Given the description of an element on the screen output the (x, y) to click on. 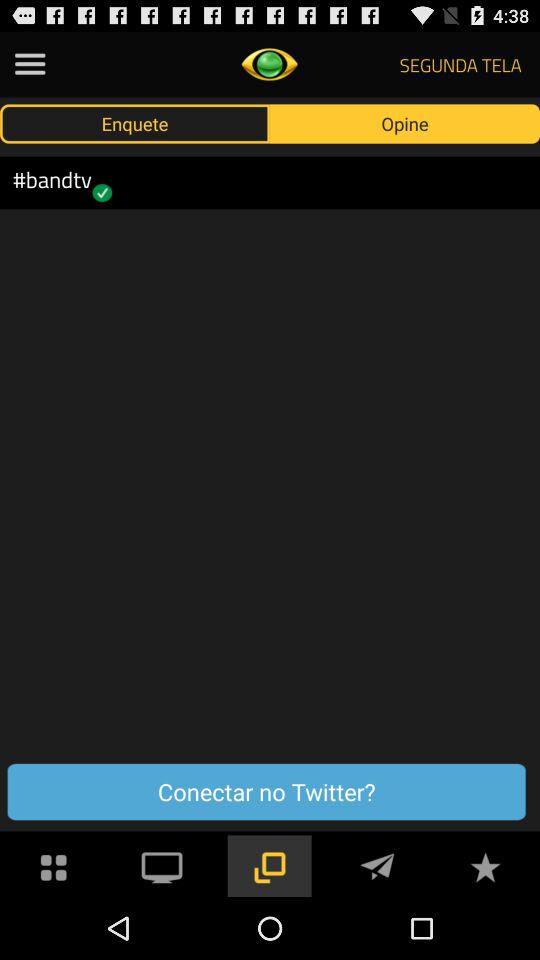
cast to device (162, 865)
